Given the description of an element on the screen output the (x, y) to click on. 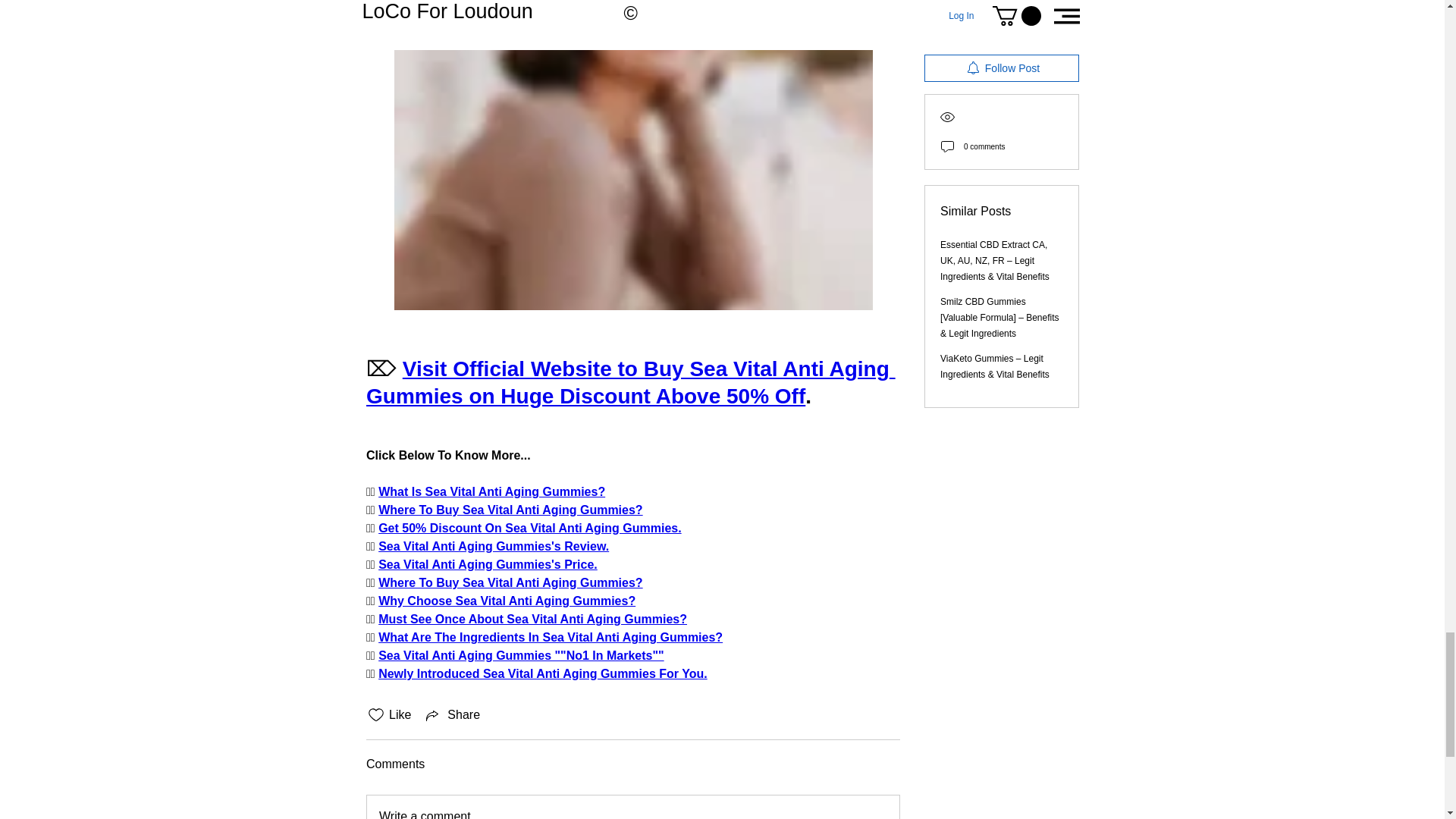
Sea Vital Anti Aging Gummies's Review. (493, 545)
Sea Vital Anti Aging Gummies ""No1 In Markets"" (520, 655)
Why Choose Sea Vital Anti Aging Gummies? (506, 600)
What Is Sea Vital Anti Aging Gummies? (491, 491)
Where To Buy Sea Vital Anti Aging Gummies? (510, 582)
Where To Buy Sea Vital Anti Aging Gummies? (510, 509)
What Are The Ingredients In Sea Vital Anti Aging Gummies? (550, 636)
Share (451, 714)
Newly Introduced Sea Vital Anti Aging Gummies For You. (542, 673)
Must See Once About Sea Vital Anti Aging Gummies? (532, 618)
Write a comment... (632, 807)
Sea Vital Anti Aging Gummies's Price. (487, 563)
